Given the description of an element on the screen output the (x, y) to click on. 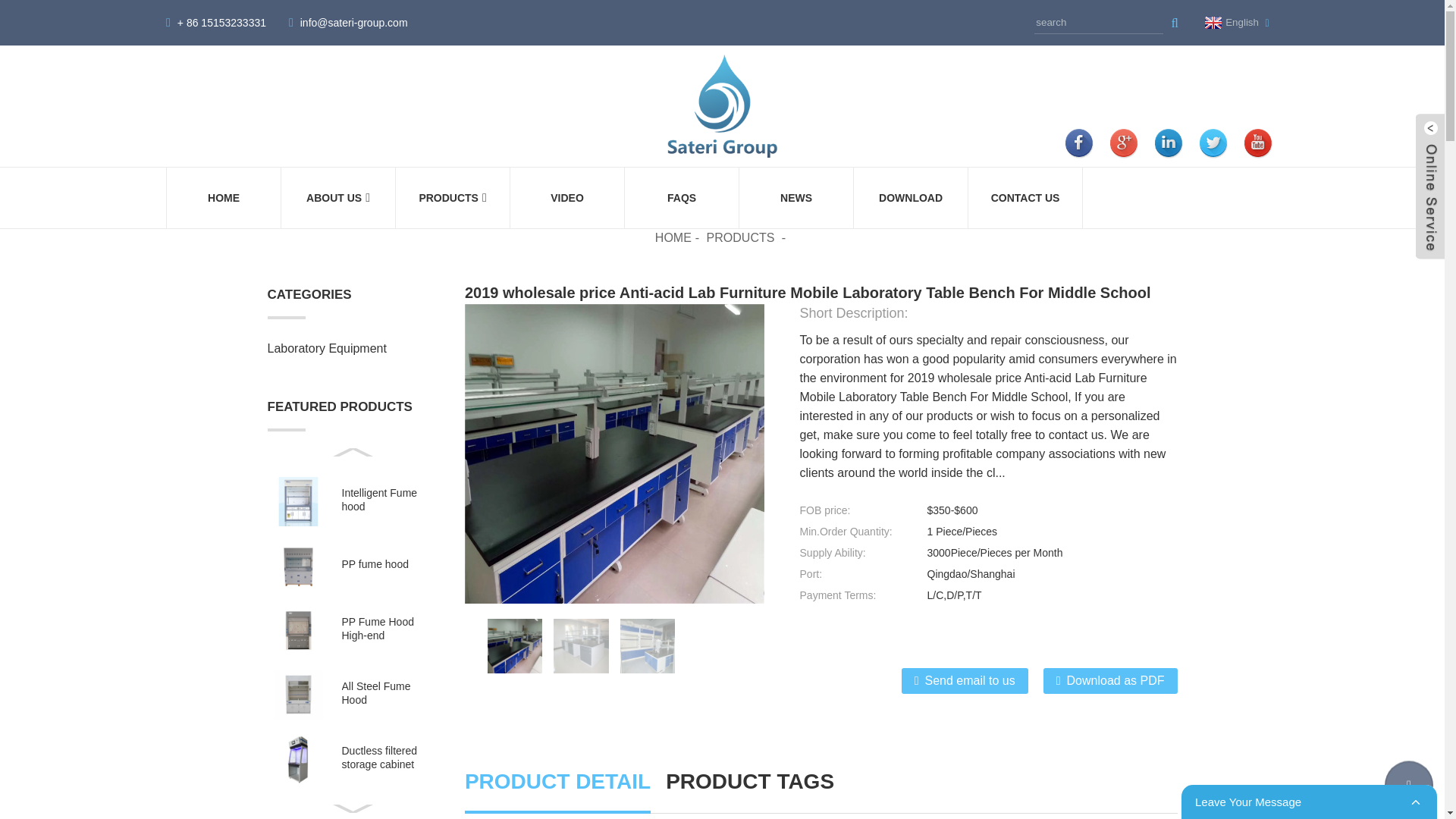
DOWNLOAD (910, 197)
NEWS (795, 197)
FAQS (681, 197)
CONTACT US (1025, 197)
Laboratory Equipment (344, 348)
PP Fume Hood High-end (385, 627)
HOME (673, 237)
PRODUCTS (452, 197)
PP fume hood (373, 563)
Ductless filtered storage cabinet (385, 756)
